Given the description of an element on the screen output the (x, y) to click on. 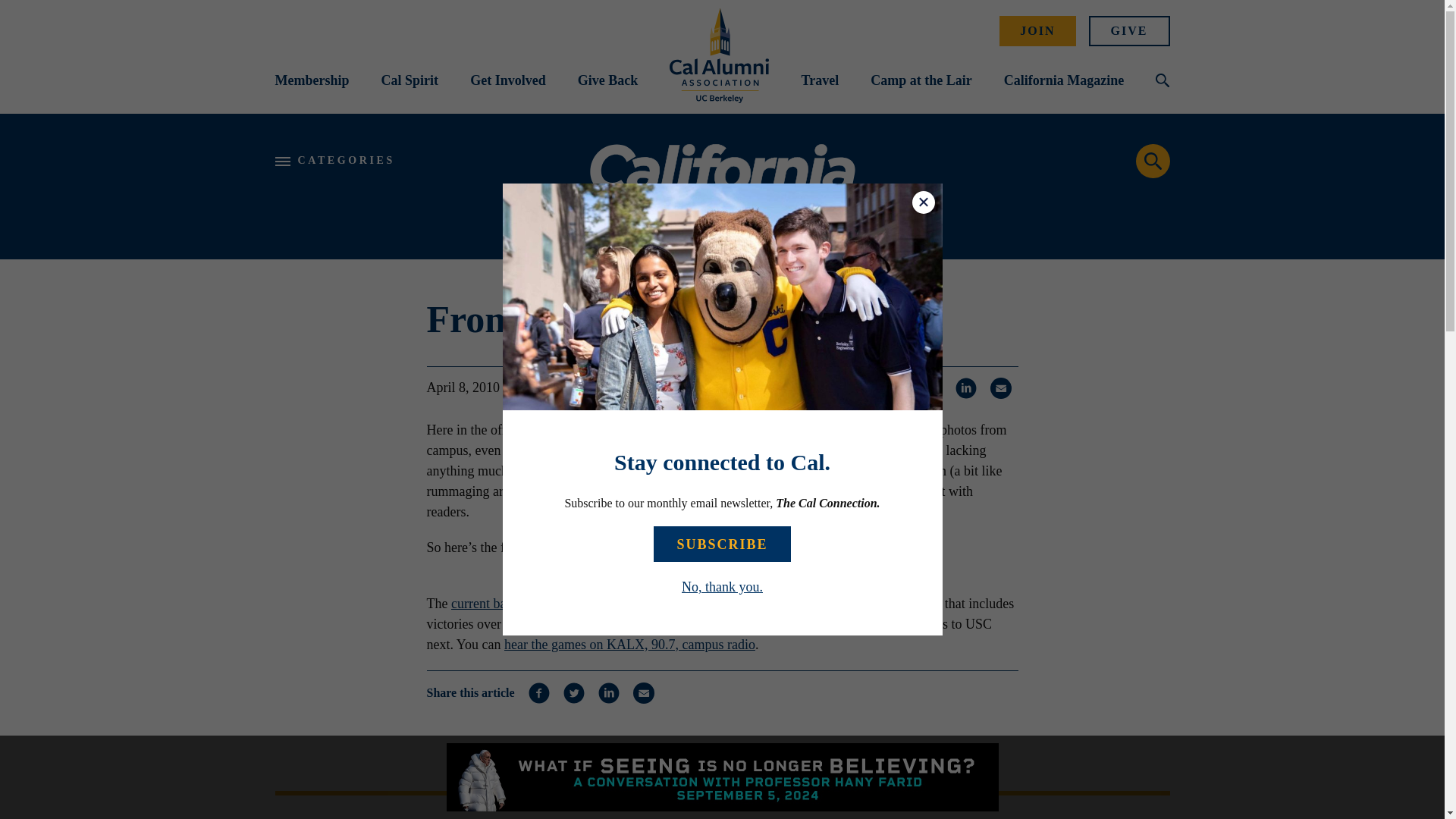
GIVE (1129, 30)
JOIN (1036, 30)
Get Involved (508, 79)
SUBSCRIBE (721, 543)
Travel (819, 79)
Cal Spirit (410, 79)
No, thank you. (721, 587)
Camp at the Lair (921, 79)
California Magazine (1064, 79)
Membership (312, 79)
California Magazine Index (722, 186)
Give Back (608, 79)
